Given the description of an element on the screen output the (x, y) to click on. 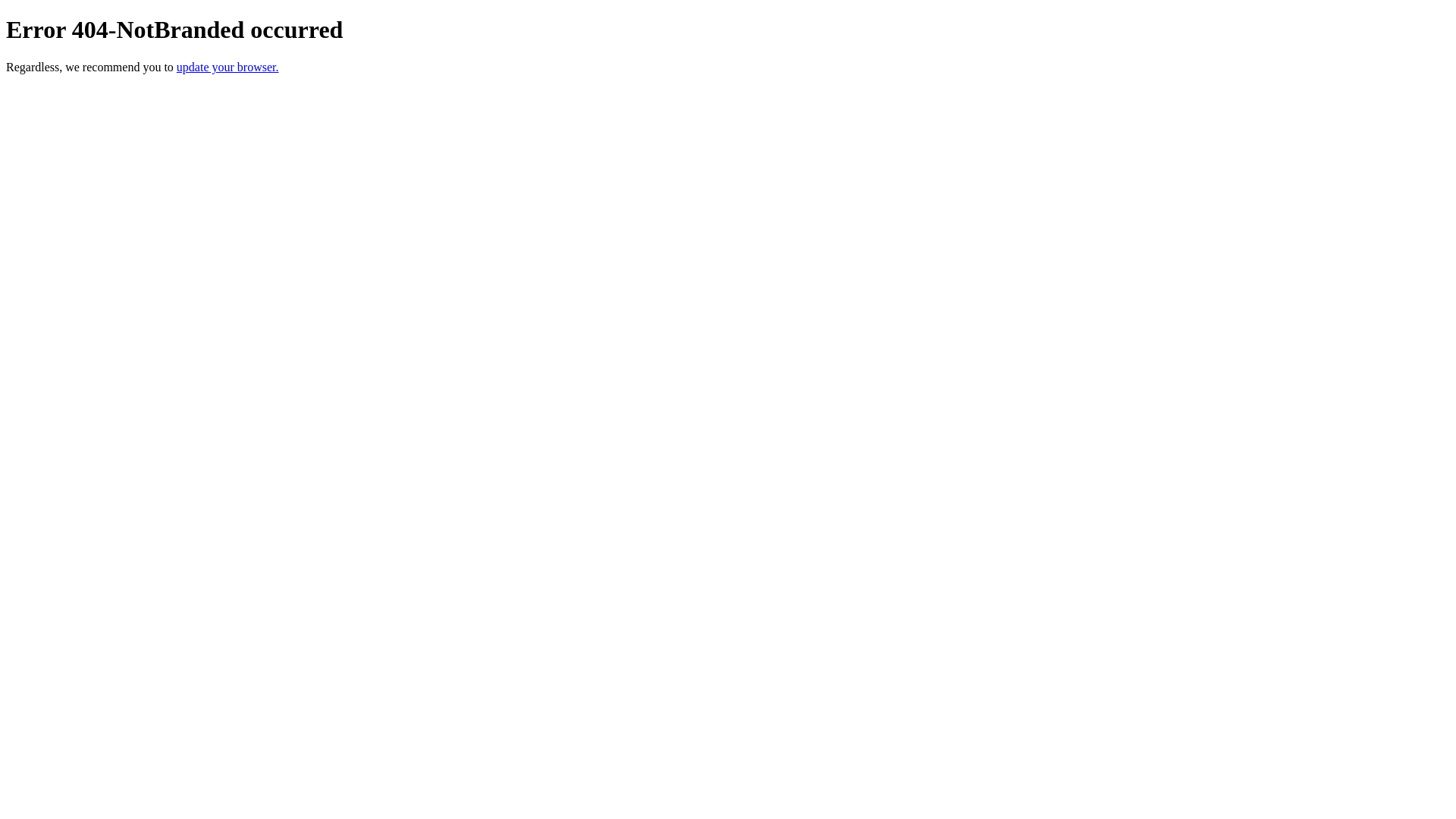
update your browser. Element type: text (227, 66)
